Given the description of an element on the screen output the (x, y) to click on. 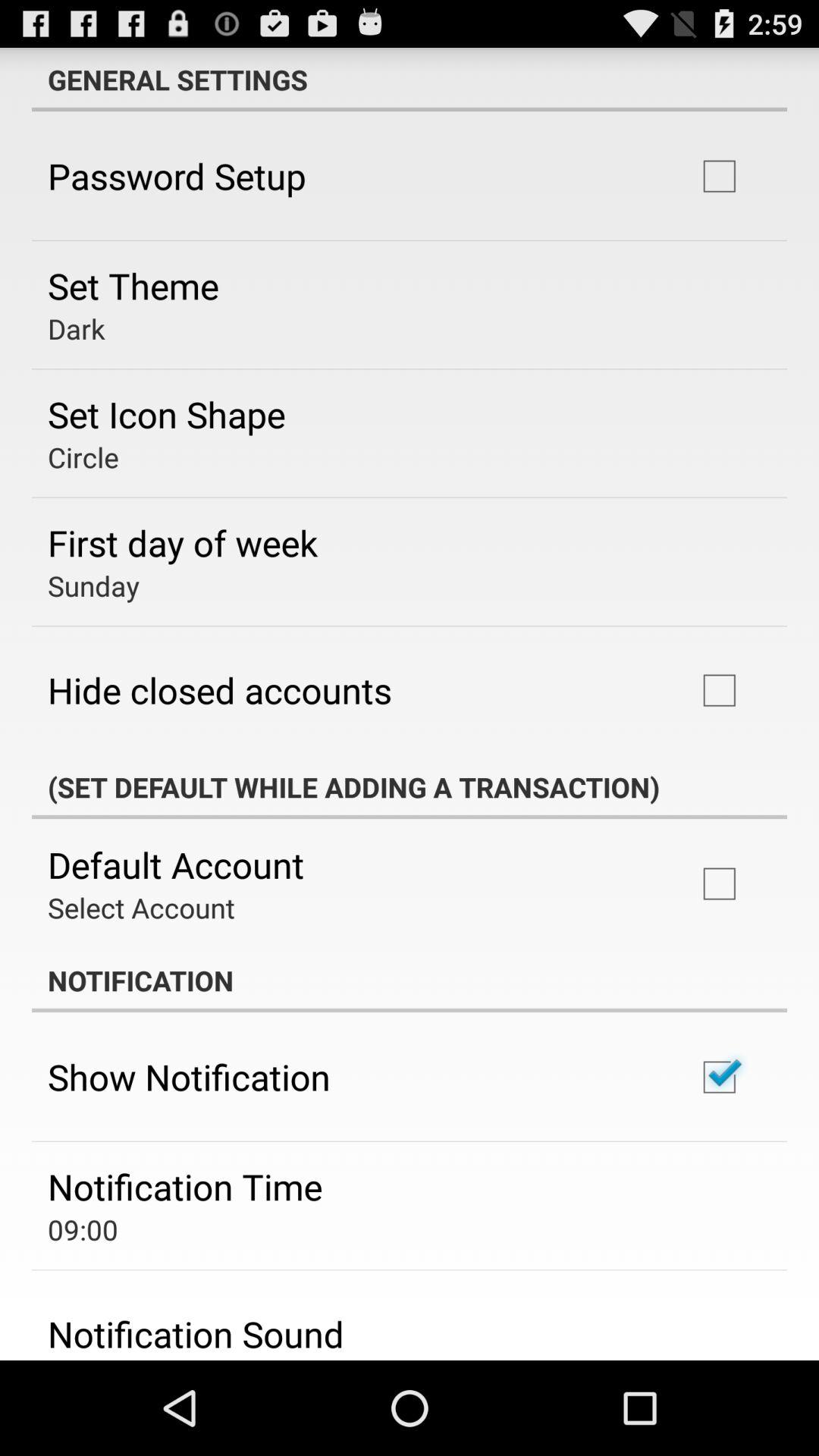
jump to set icon shape item (166, 414)
